Given the description of an element on the screen output the (x, y) to click on. 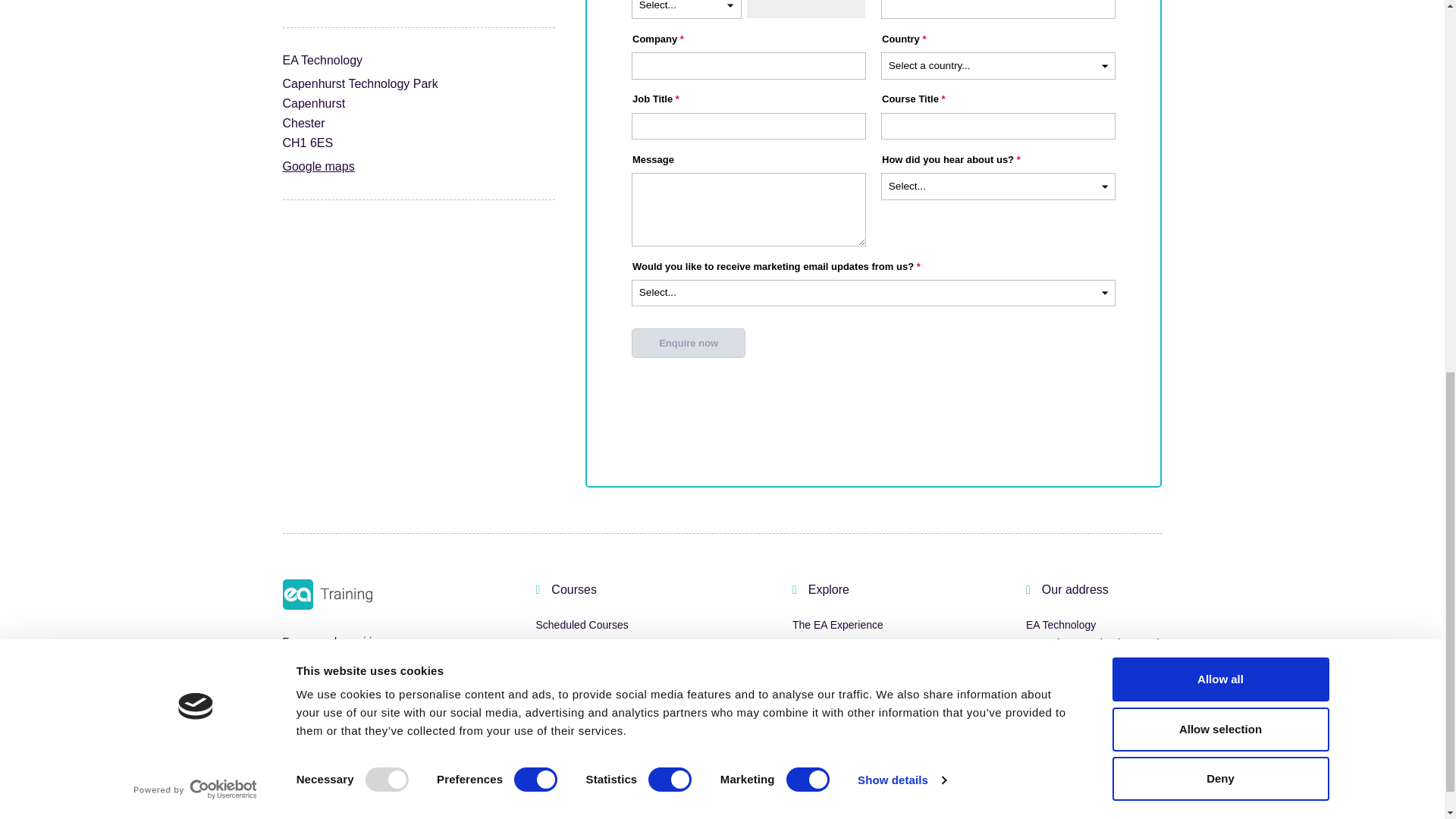
Show details (900, 75)
Back to the homepage (326, 594)
